Given the description of an element on the screen output the (x, y) to click on. 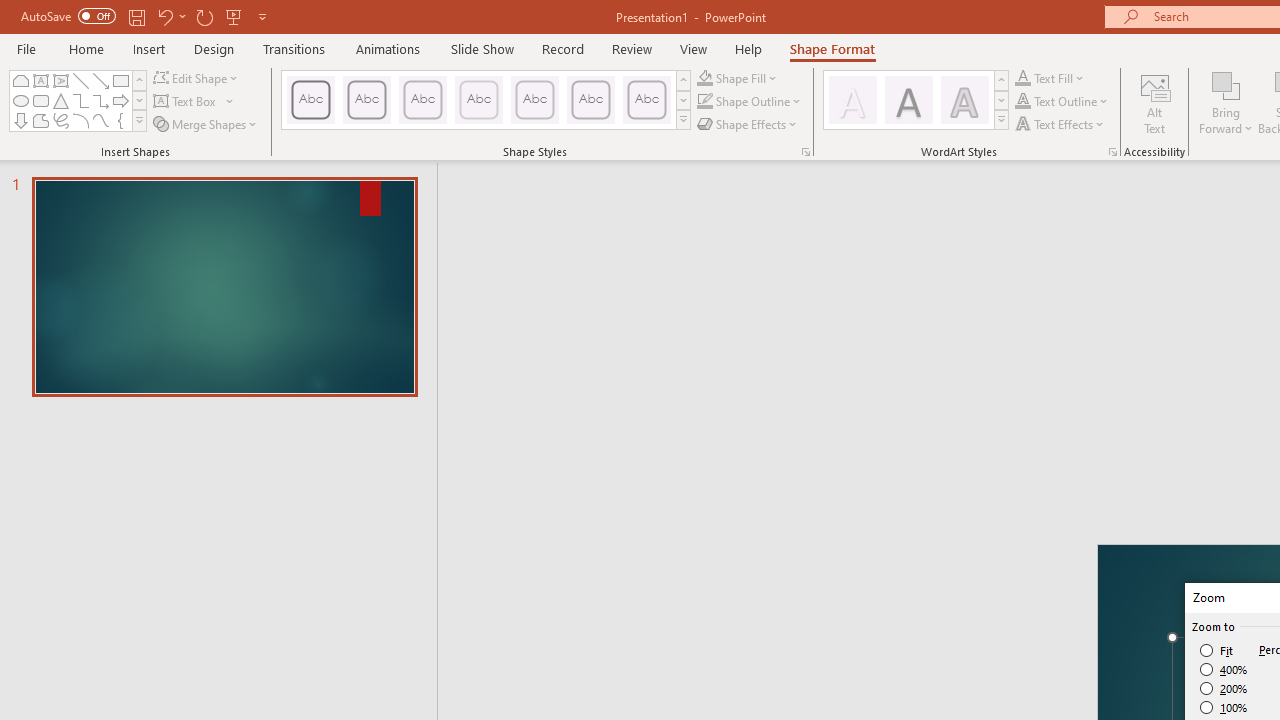
Draw Horizontal Text Box (185, 101)
AutomationID: TextStylesGallery (916, 99)
Fit (1217, 650)
Format Text Effects... (1112, 151)
